Given the description of an element on the screen output the (x, y) to click on. 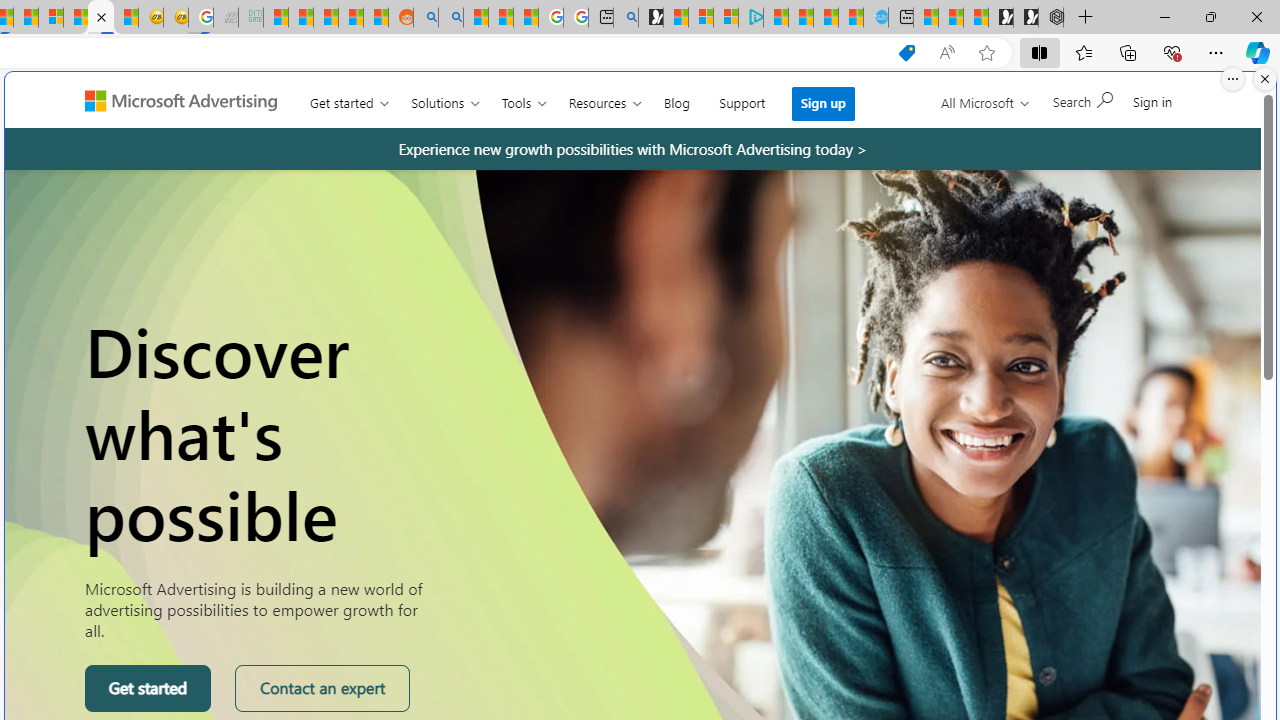
Get the Copilot app  (1117, 109)
Sign up (823, 103)
